Given the description of an element on the screen output the (x, y) to click on. 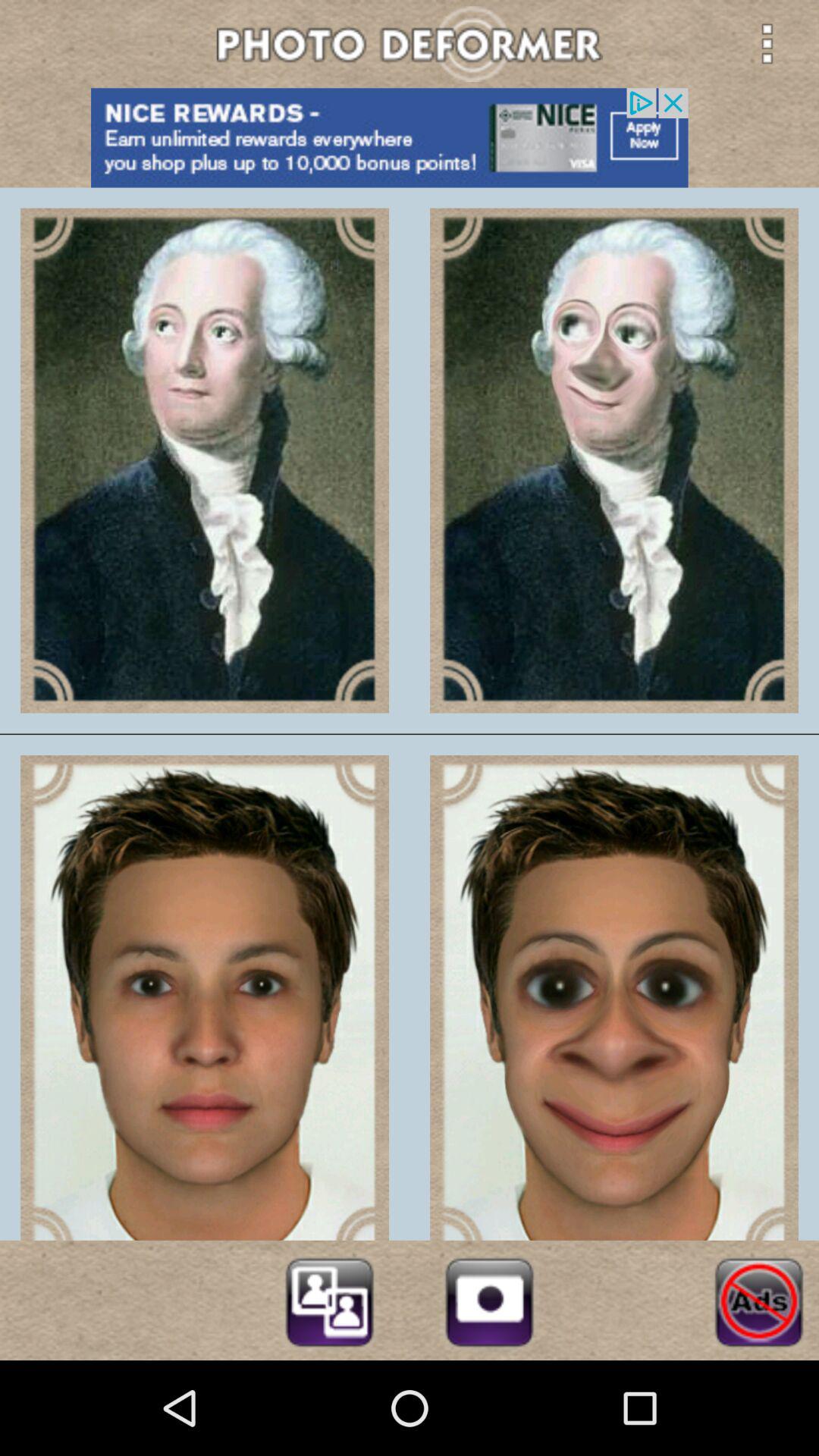
advertisement botton (409, 137)
